Given the description of an element on the screen output the (x, y) to click on. 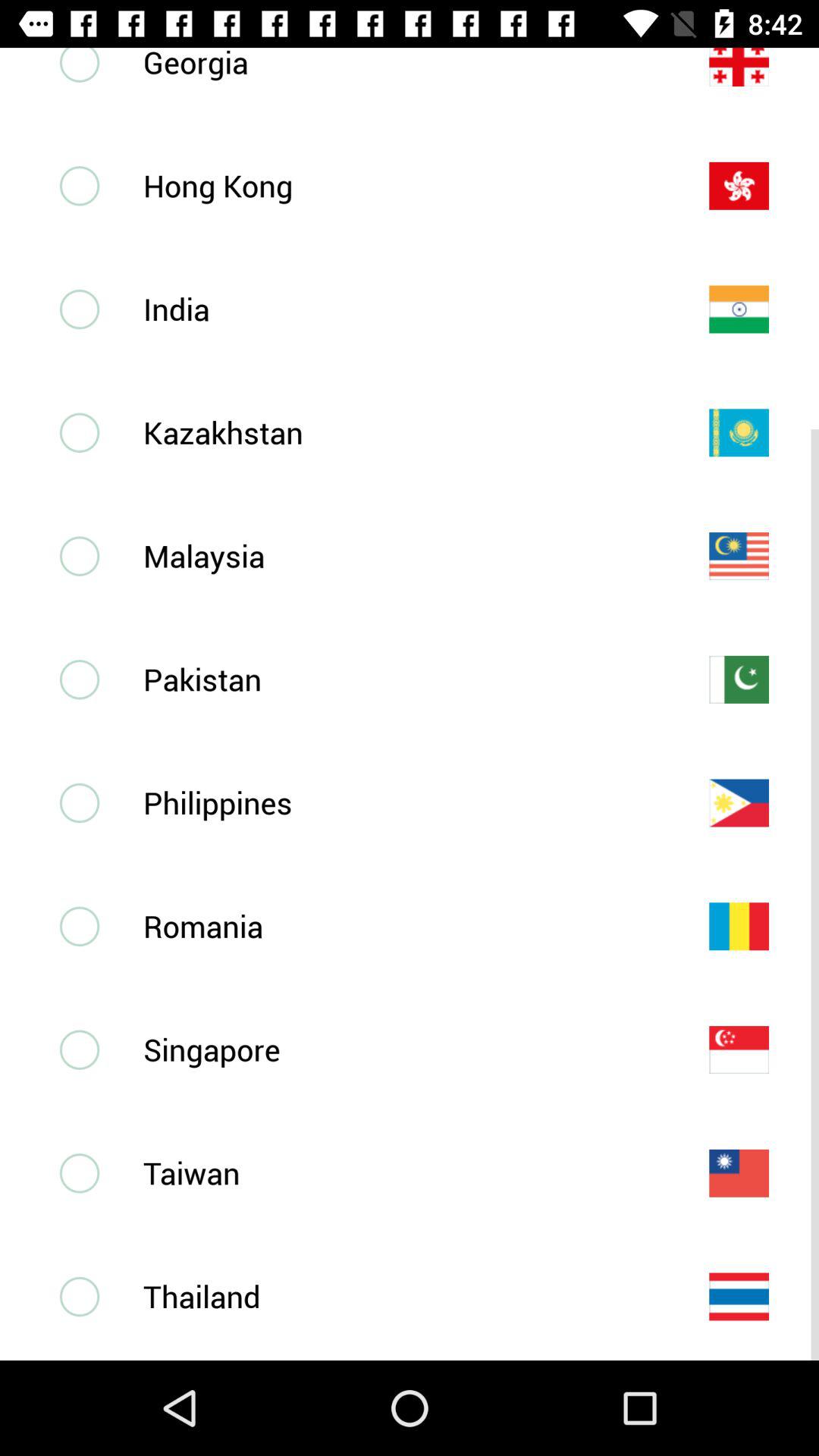
tap kazakhstan icon (401, 432)
